Given the description of an element on the screen output the (x, y) to click on. 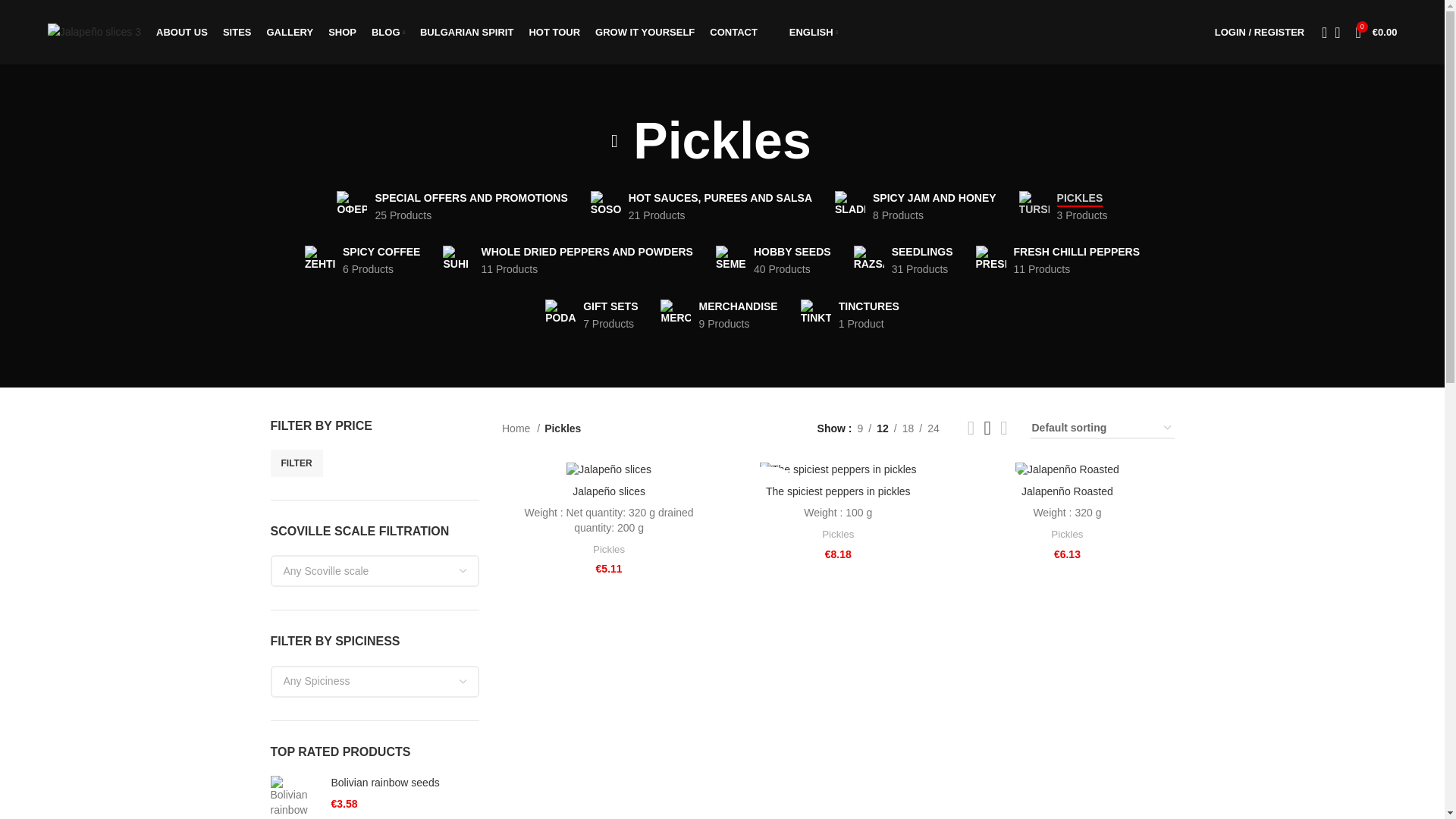
Shopping cart (362, 260)
GROW IT YOURSELF (1376, 31)
HOT TOUR (644, 31)
zehtin (553, 31)
GALLERY (319, 260)
SITES (290, 31)
SHOP (236, 31)
BULGARIAN SPIRIT (342, 31)
razsad (466, 31)
